Given the description of an element on the screen output the (x, y) to click on. 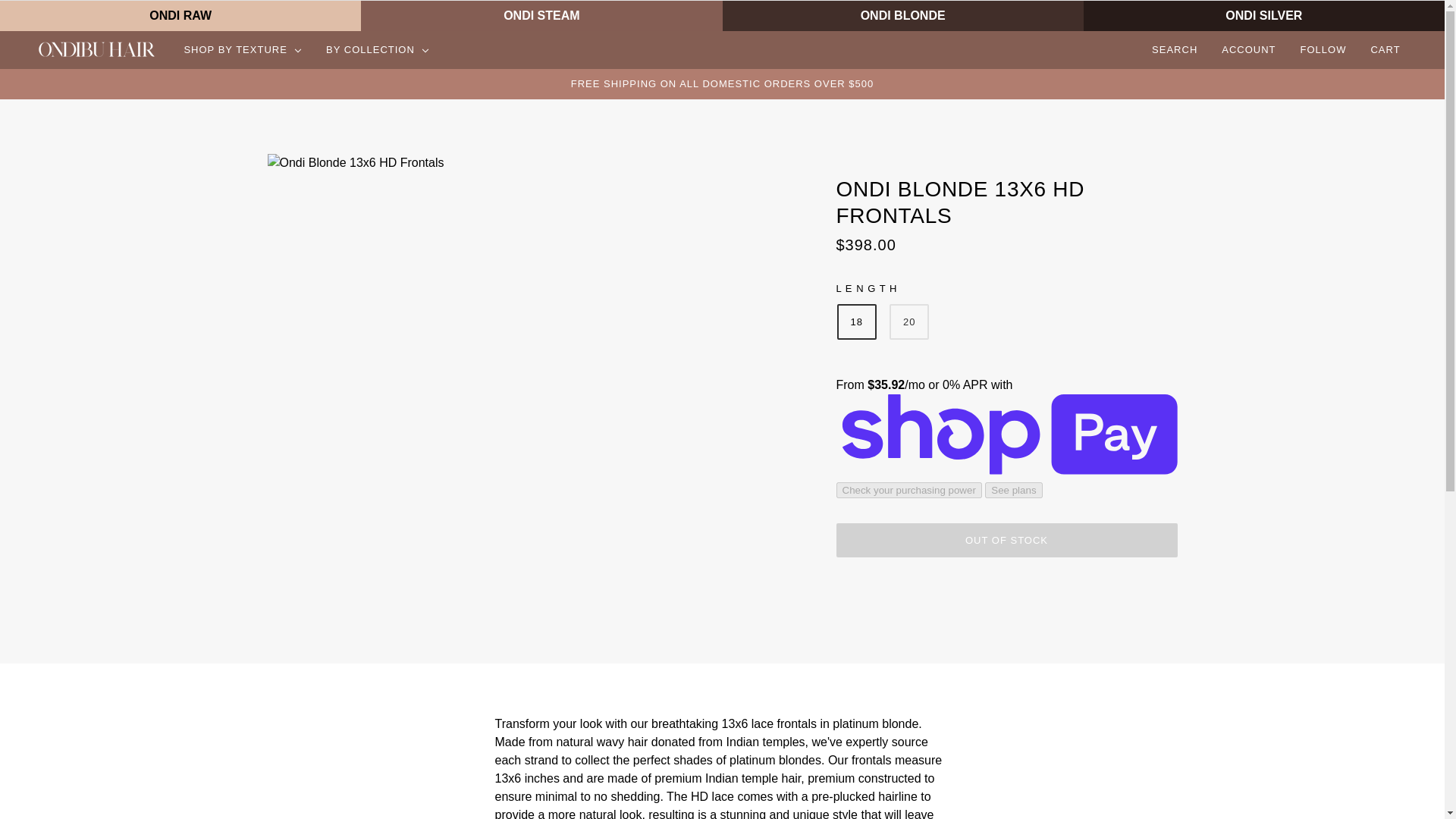
BY COLLECTION   (377, 49)
ONDI BLONDE (902, 15)
SEARCH (1174, 49)
ACCOUNT (1248, 49)
SHOP BY TEXTURE   (242, 49)
ONDI STEAM (541, 15)
ONDI RAW (180, 15)
ONDI SILVER (1263, 15)
O ECOMM (96, 49)
